Given the description of an element on the screen output the (x, y) to click on. 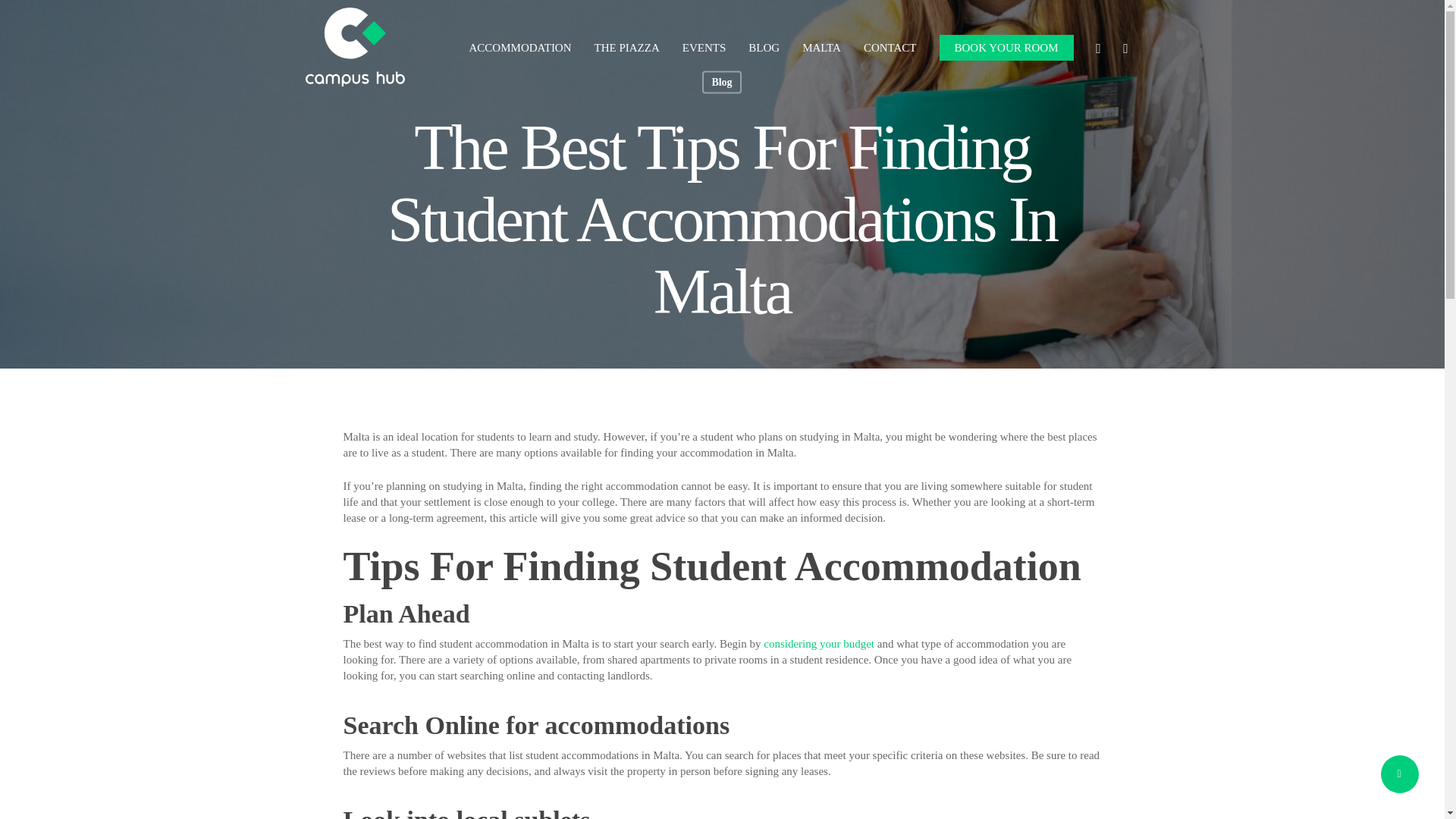
considering your budget (818, 644)
Blog (721, 82)
FACEBOOK (1098, 47)
BLOG (763, 46)
BOOK YOUR ROOM (1006, 46)
ACCOMMODATION (520, 46)
EVENTS (704, 46)
CONTACT (890, 46)
MALTA (821, 46)
THE PIAZZA (626, 46)
